Given the description of an element on the screen output the (x, y) to click on. 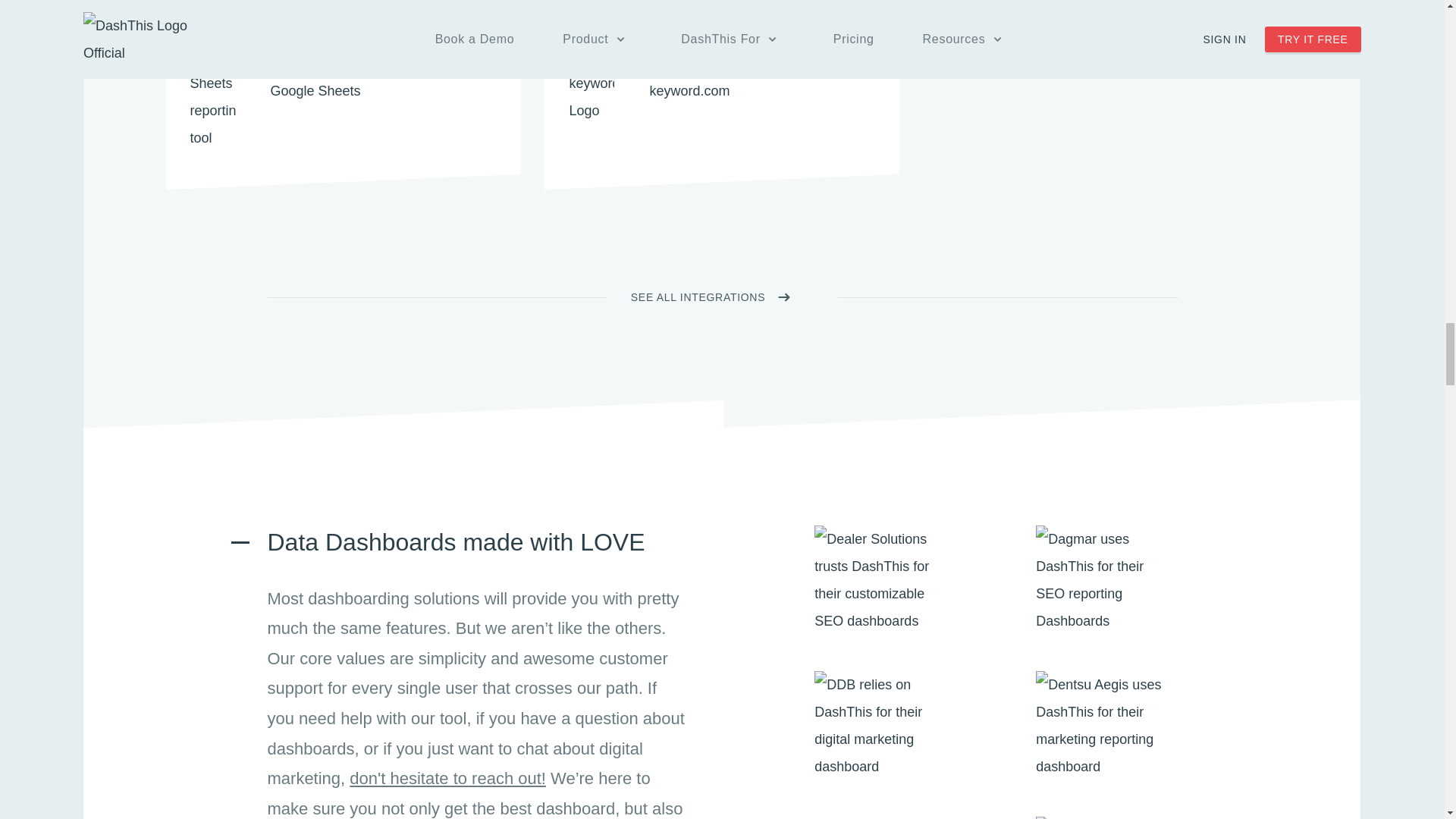
Contact (447, 778)
Integrations (709, 297)
